Given the description of an element on the screen output the (x, y) to click on. 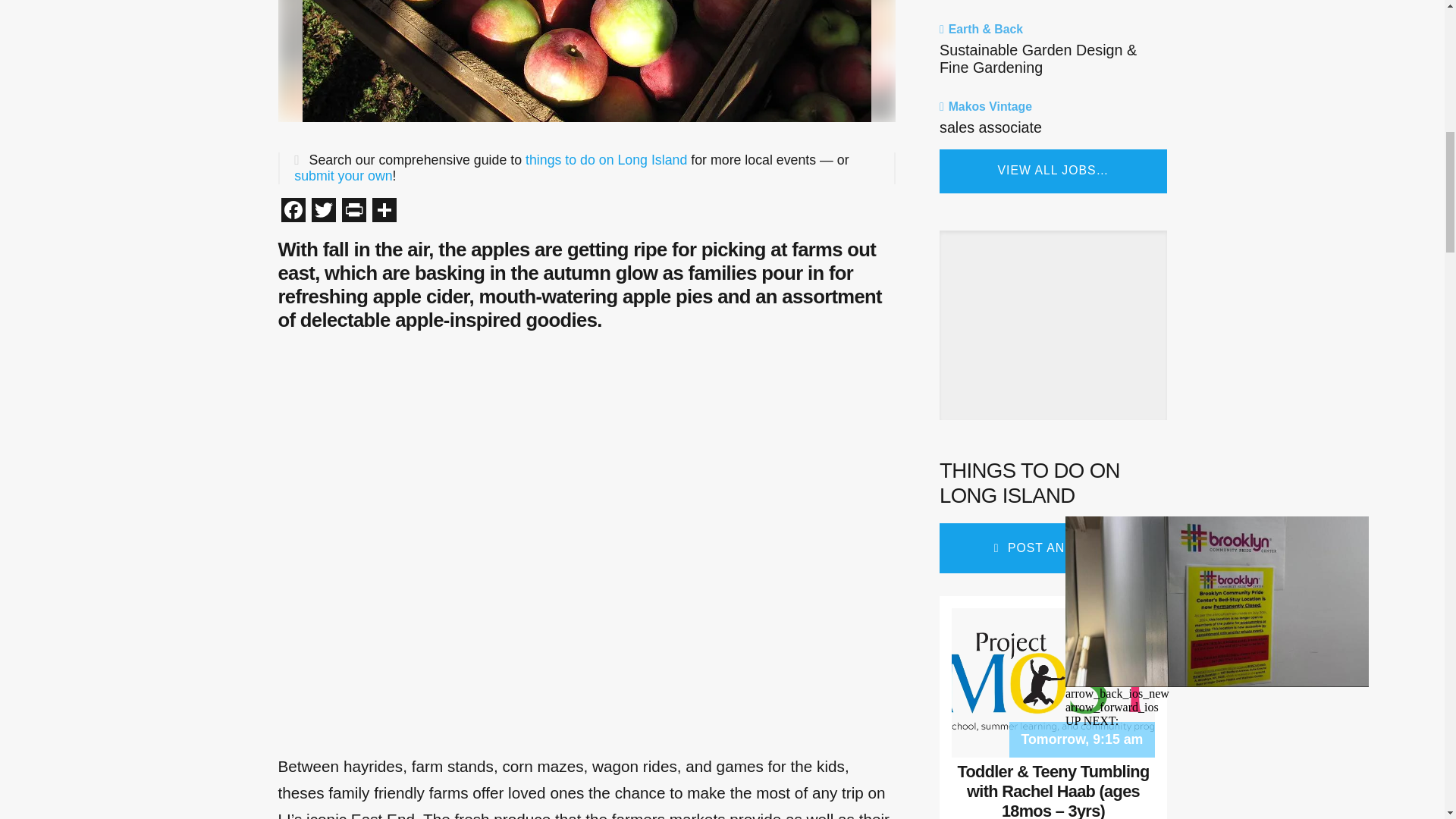
Twitter (322, 212)
Facebook (292, 212)
PrintFriendly (352, 212)
